Given the description of an element on the screen output the (x, y) to click on. 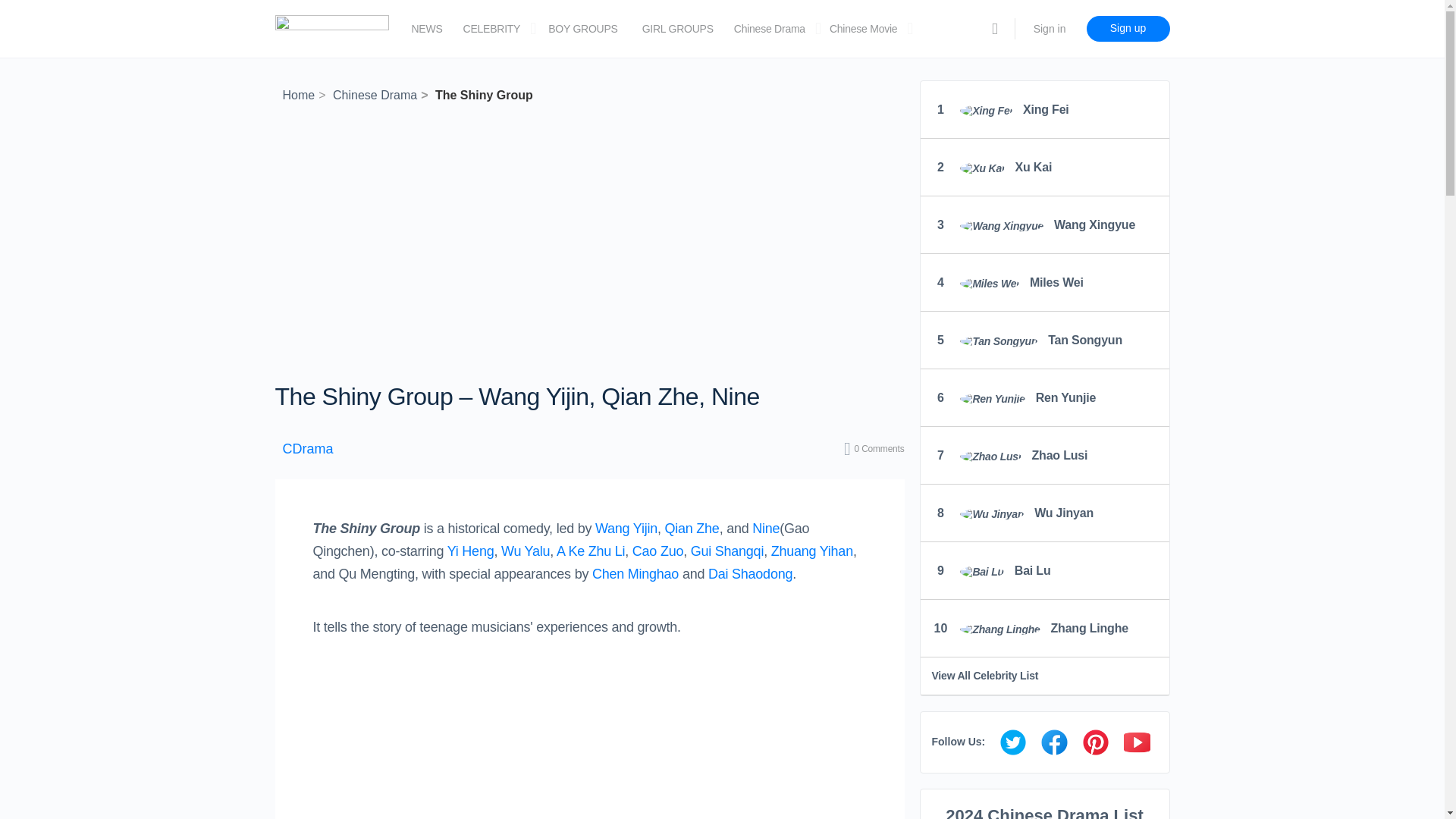
CELEBRITY (492, 28)
Chinese Drama (769, 28)
Sign in (1050, 28)
GIRL GROUPS (677, 28)
BOY GROUPS (582, 28)
Sign up (1127, 28)
Chinese Movie (862, 28)
